Given the description of an element on the screen output the (x, y) to click on. 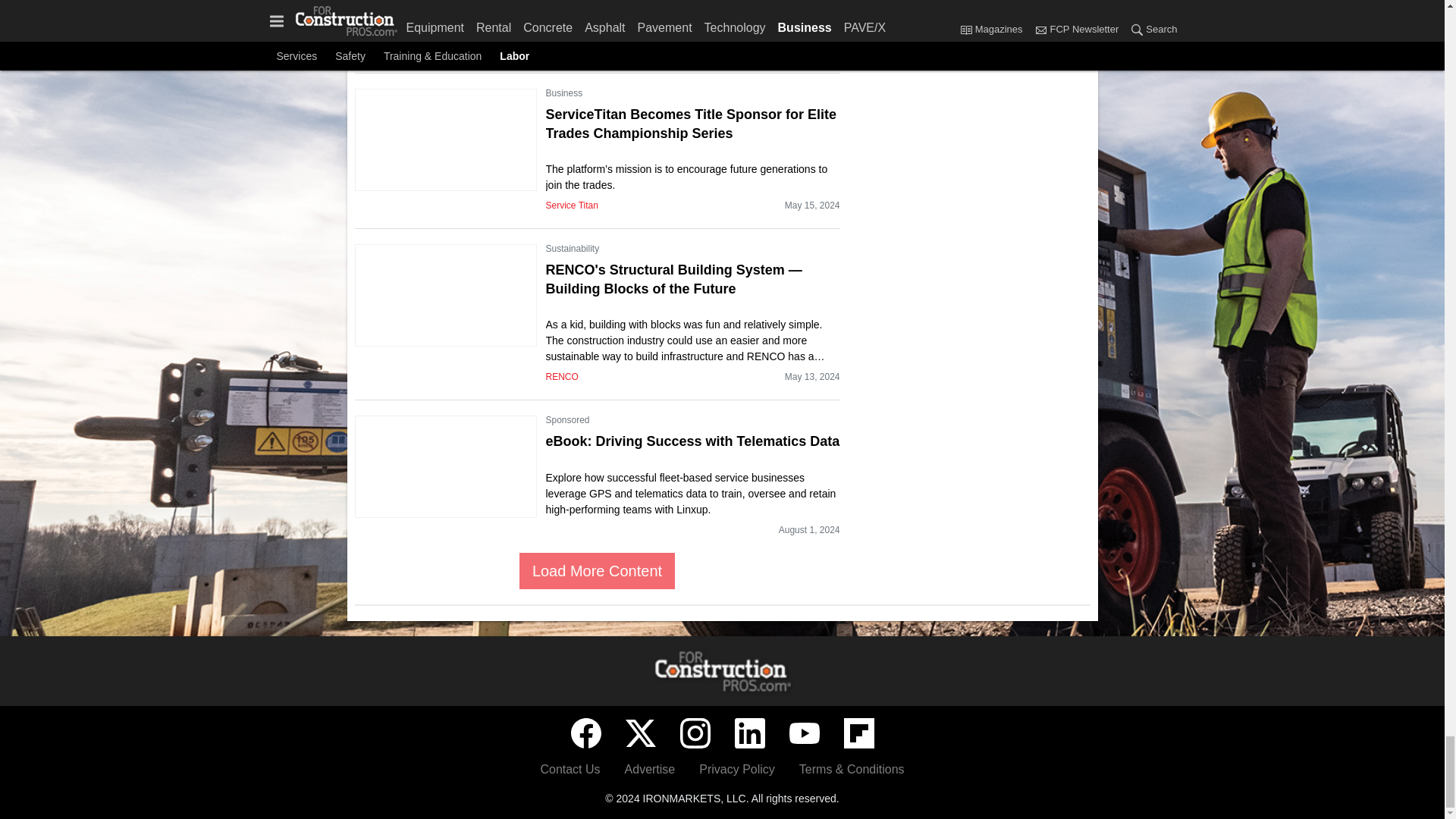
YouTube icon (803, 733)
LinkedIn icon (748, 733)
Flipboard icon (858, 733)
Facebook icon (584, 733)
Twitter X icon (639, 733)
Instagram icon (694, 733)
